Given the description of an element on the screen output the (x, y) to click on. 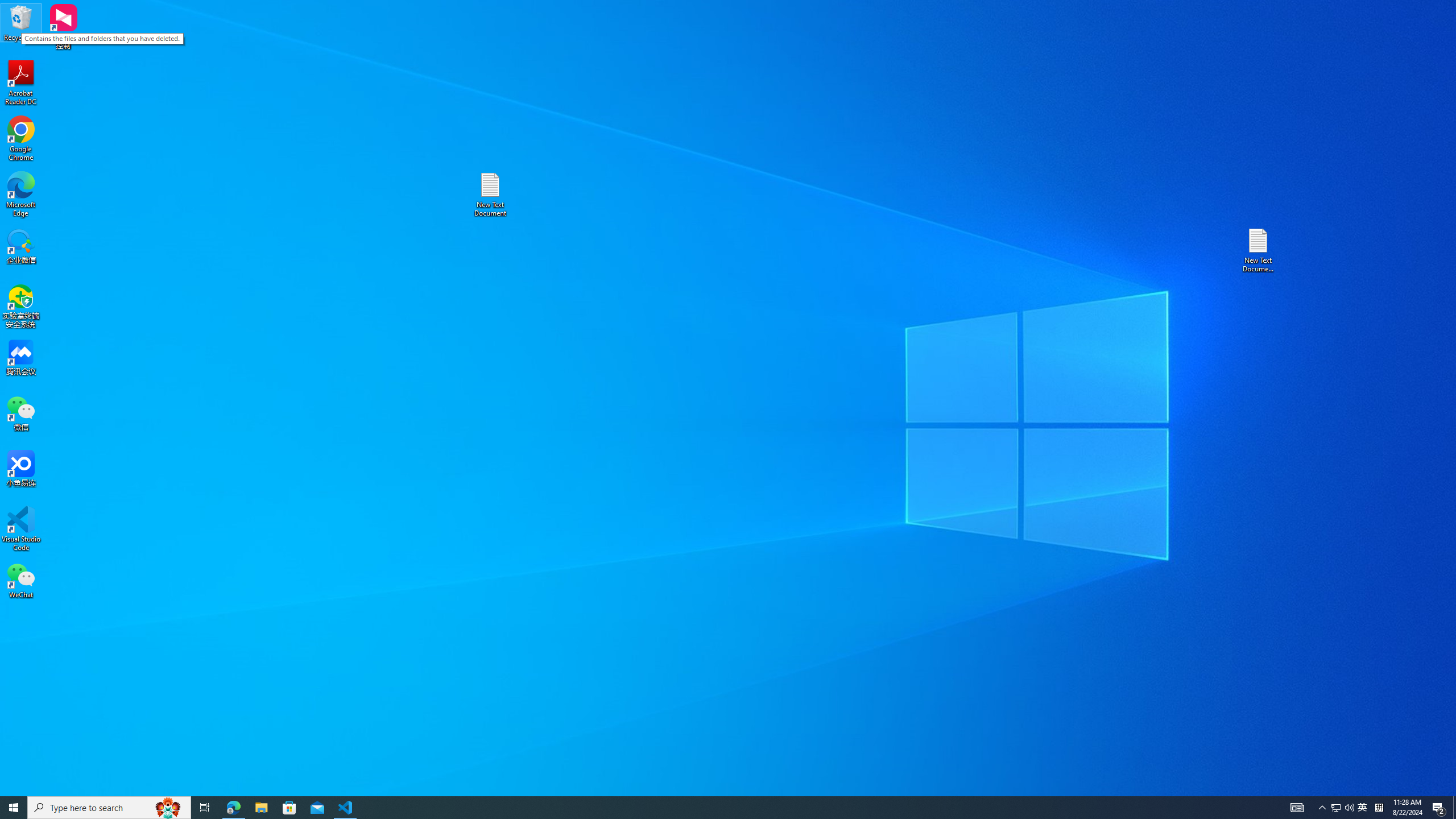
WeChat (21, 580)
Notification Chevron (1322, 807)
Q2790: 100% (1349, 807)
Start (13, 807)
Acrobat Reader DC (21, 82)
Tray Input Indicator - Chinese (Simplified, China) (1378, 807)
Action Center, 2 new notifications (1439, 807)
Type here to search (108, 807)
Microsoft Edge (21, 194)
New Text Document (2) (1258, 250)
Search highlights icon opens search home window (167, 807)
Microsoft Edge - 1 running window (233, 807)
Microsoft Store (289, 807)
